Given the description of an element on the screen output the (x, y) to click on. 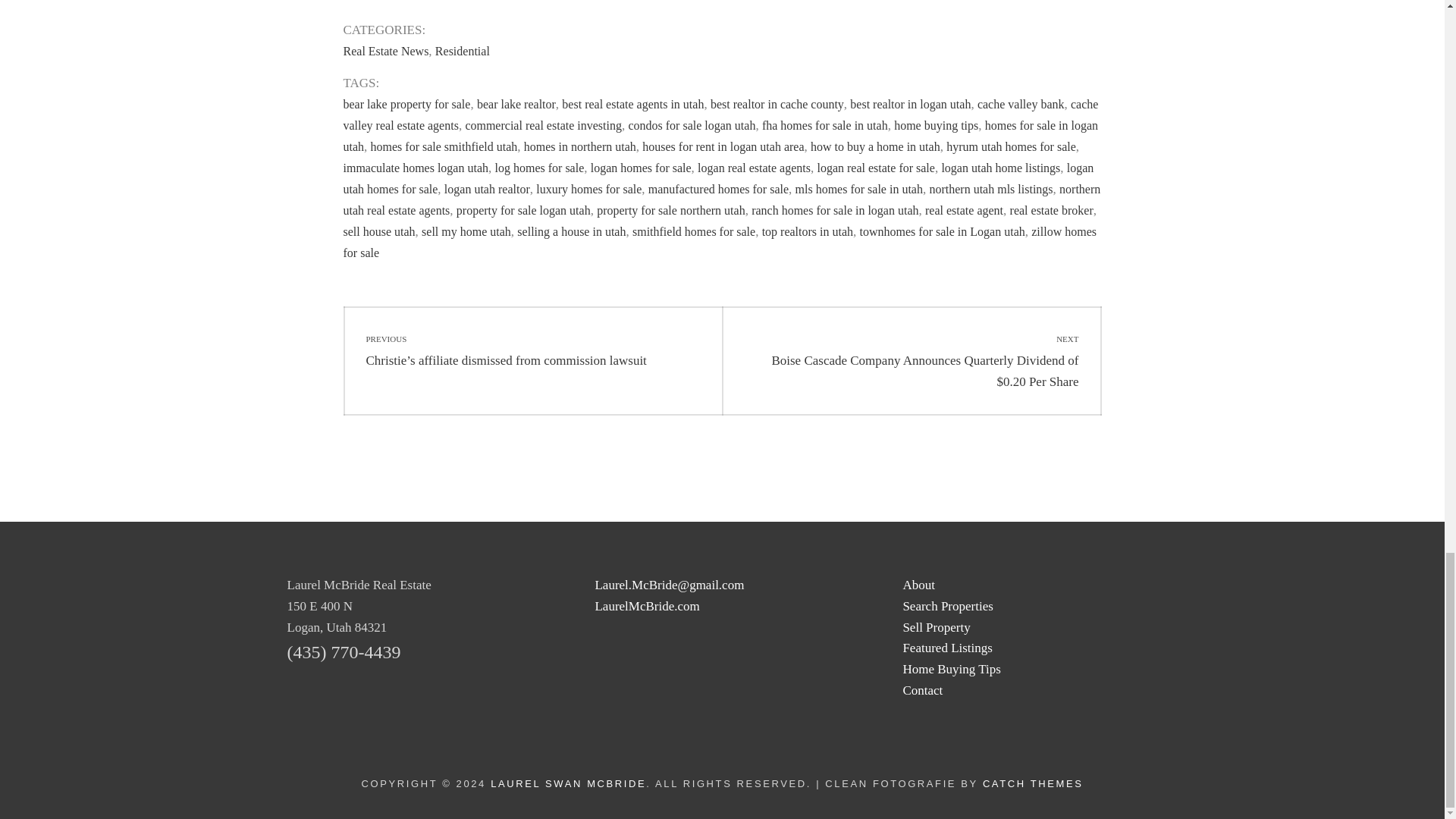
Residential (462, 51)
fha homes for sale in utah (824, 124)
bear lake realtor (516, 103)
cache valley bank (1020, 103)
cache valley real estate agents (719, 114)
bear lake property for sale (406, 103)
best realtor in cache county (777, 103)
home buying tips (935, 124)
best real estate agents in utah (632, 103)
commercial real estate investing (542, 124)
